Given the description of an element on the screen output the (x, y) to click on. 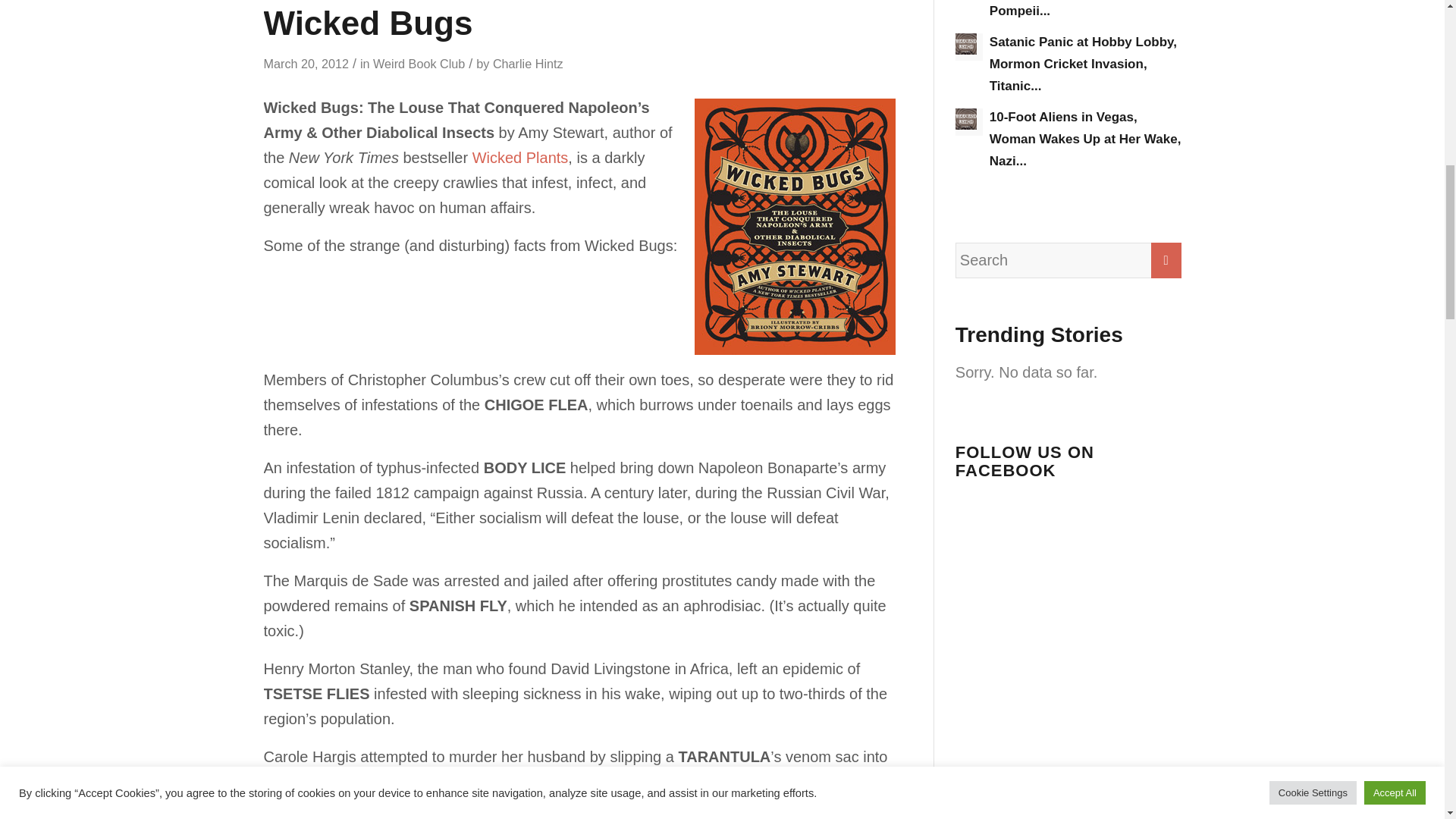
Weird Book Club (418, 63)
Wicked Plants (520, 157)
Posts by Charlie Hintz (528, 63)
Charlie Hintz (528, 63)
